Given the description of an element on the screen output the (x, y) to click on. 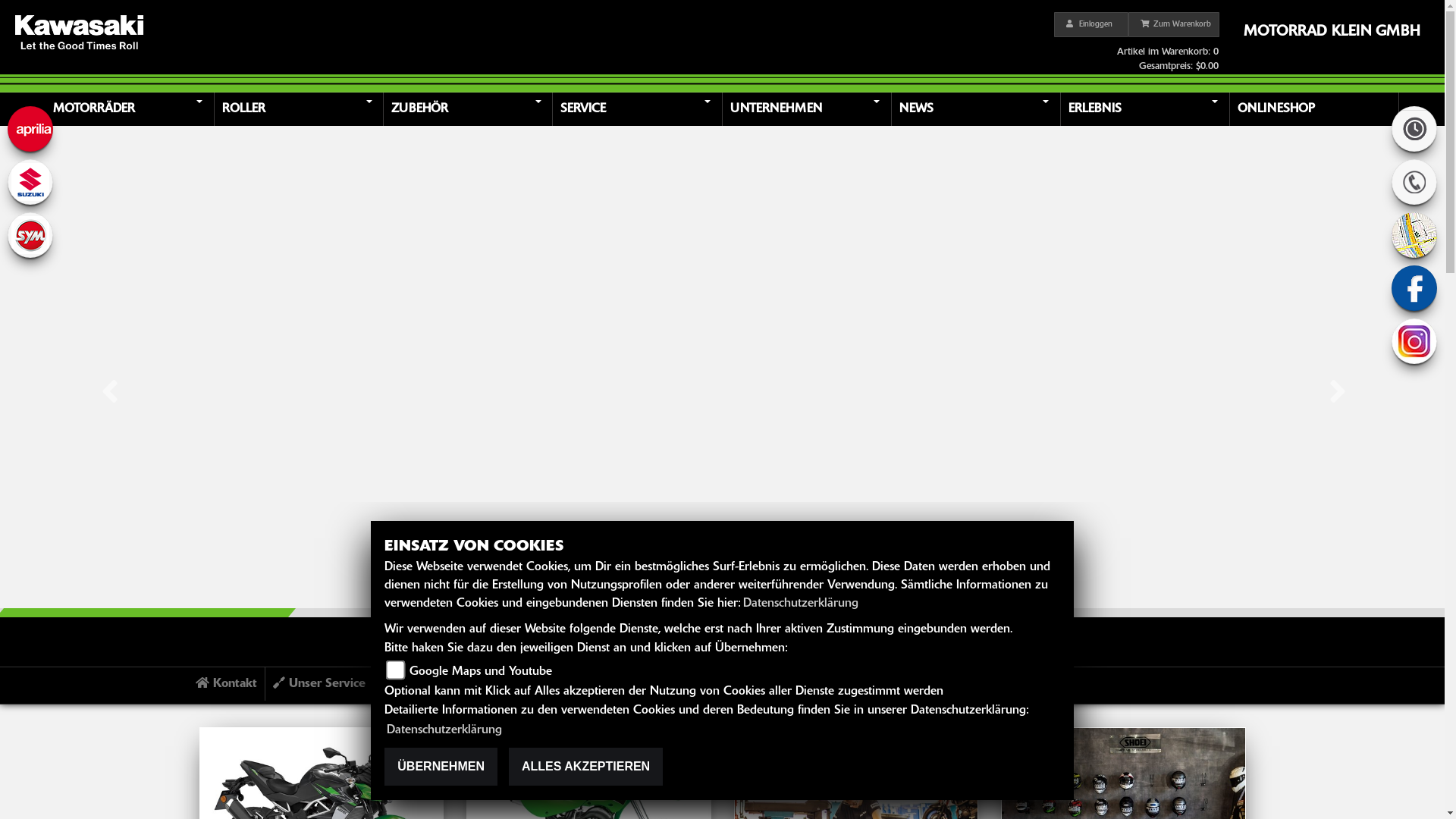
Zum Warenkorb Element type: text (1173, 24)
Previous Element type: text (108, 371)
Einloggen Element type: text (1091, 24)
NEWS Element type: text (978, 109)
Kawasaki Logo Element type: hover (79, 32)
ROLLER Element type: text (300, 109)
Next Element type: text (1335, 371)
UNTERNEHMEN Element type: text (808, 109)
ONLINESHOP Element type: text (1316, 109)
Unser Service Element type: text (319, 683)
ALLES AKZEPTIEREN Element type: text (585, 766)
ERLEBNIS Element type: text (1147, 109)
Unser Unternehmen Element type: text (446, 683)
Kontakt Element type: text (226, 683)
SERVICE Element type: text (639, 109)
